Given the description of an element on the screen output the (x, y) to click on. 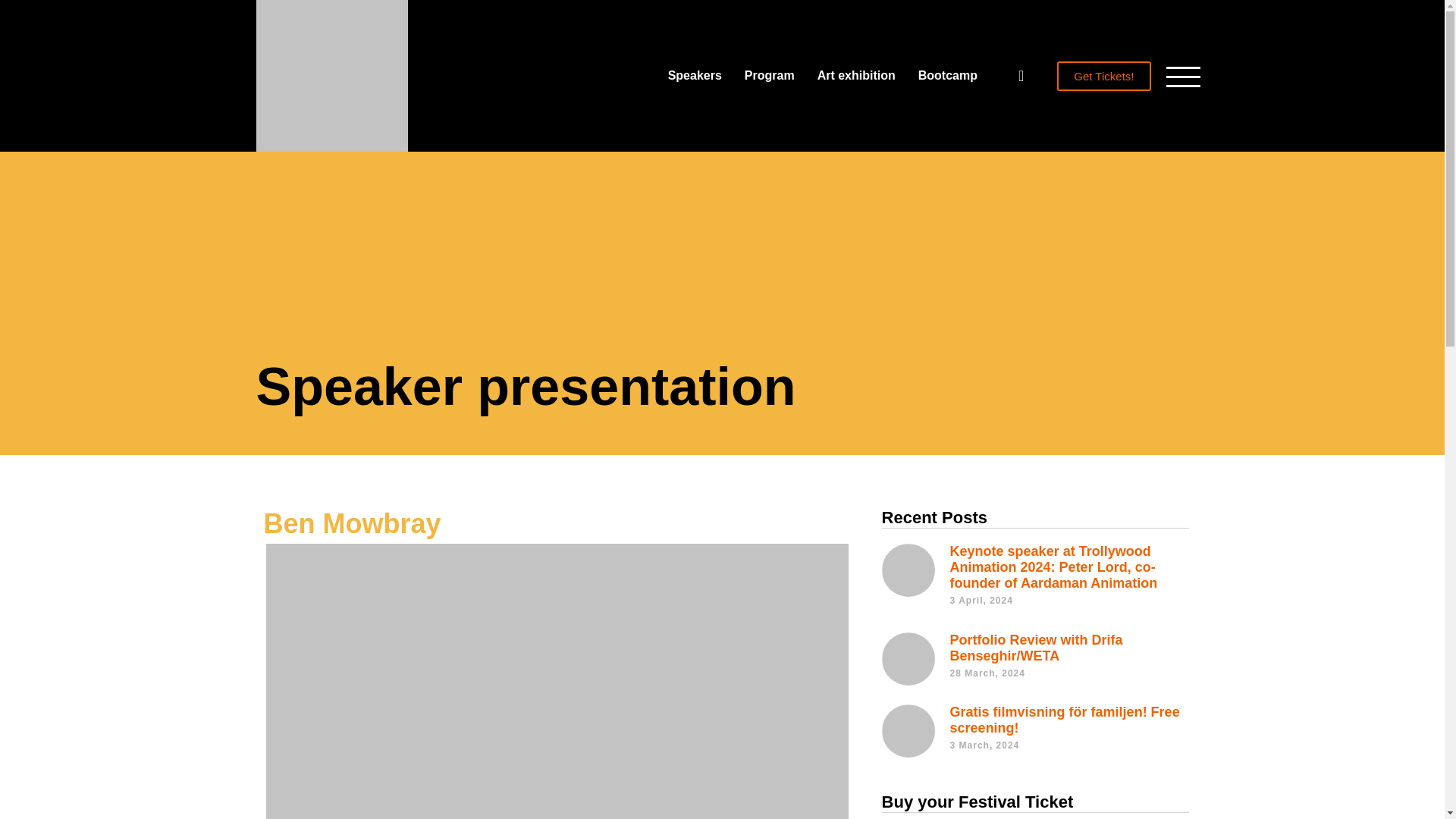
Bootcamp (947, 75)
Get Tickets! (1103, 75)
Art exhibition (856, 75)
Speakers (694, 75)
Program (769, 75)
